Given the description of an element on the screen output the (x, y) to click on. 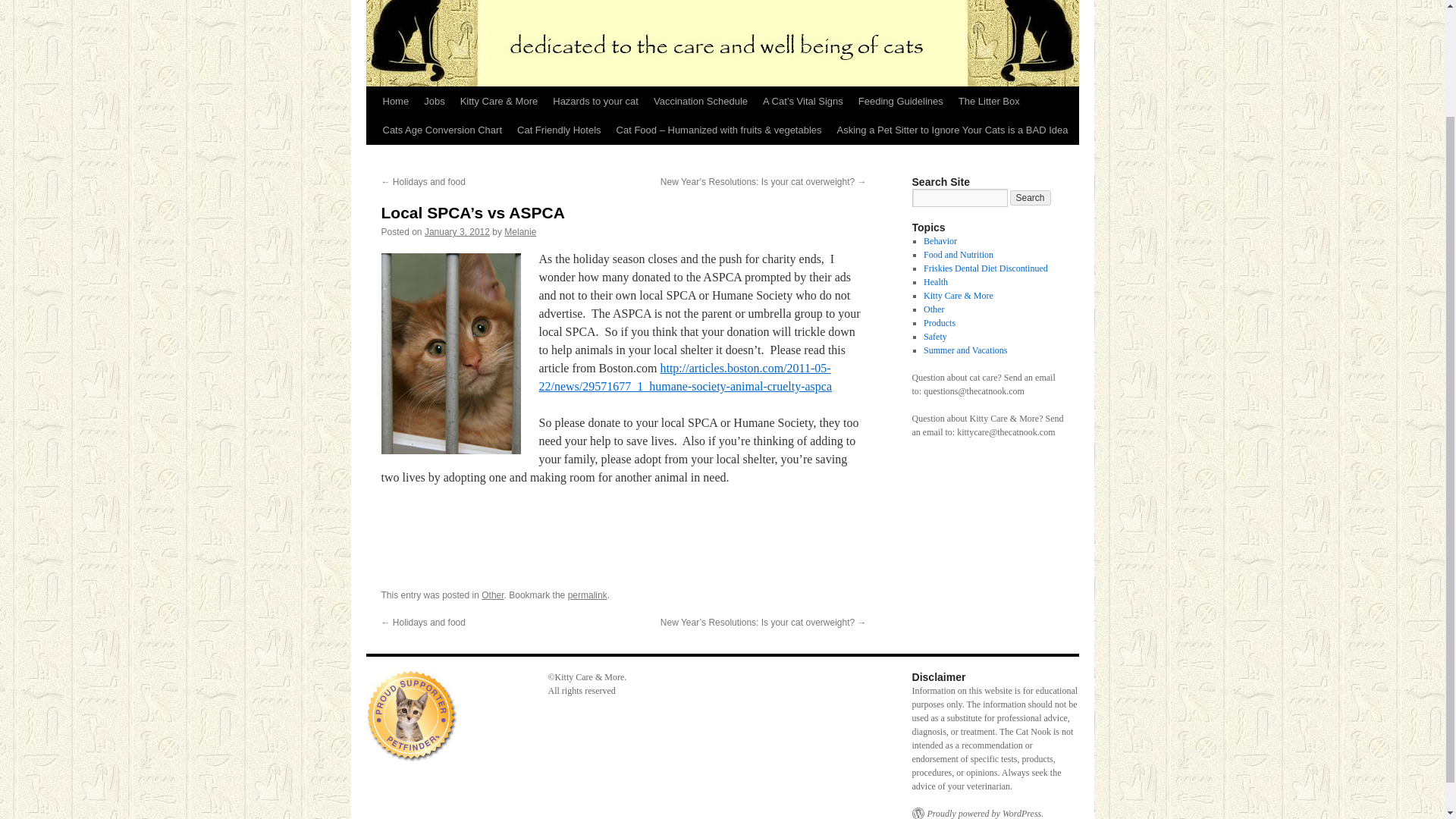
Asking a Pet Sitter to Ignore Your Cats is a BAD Idea (952, 130)
Food and Nutrition (957, 254)
Search (1030, 197)
Friskies Dental Diet Discontinued (985, 267)
Melanie (519, 231)
Feeding Guidelines (900, 101)
Behavior (939, 240)
8:27 pm (457, 231)
Search (1030, 197)
January 3, 2012 (457, 231)
